Given the description of an element on the screen output the (x, y) to click on. 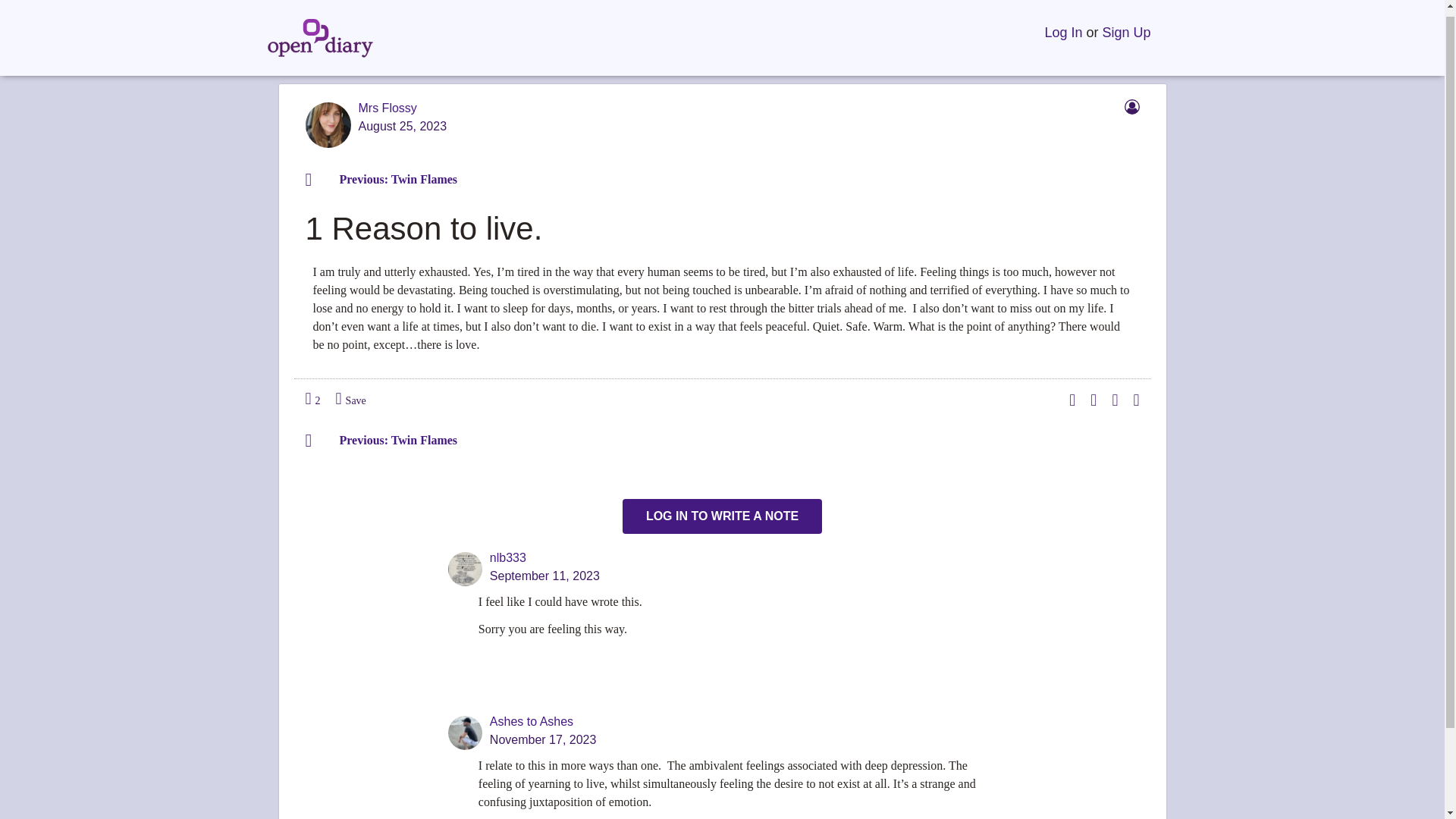
Previous: Twin Flames (387, 440)
2023-09-11 04:05:51 (544, 576)
2023-08-25 07:47 pm (402, 126)
Asset 5 (1127, 110)
Log In (1062, 25)
Mrs Flossy (387, 107)
Sign Up (1126, 25)
Ashes to Ashes (531, 721)
Asset 5 (1131, 106)
